Given the description of an element on the screen output the (x, y) to click on. 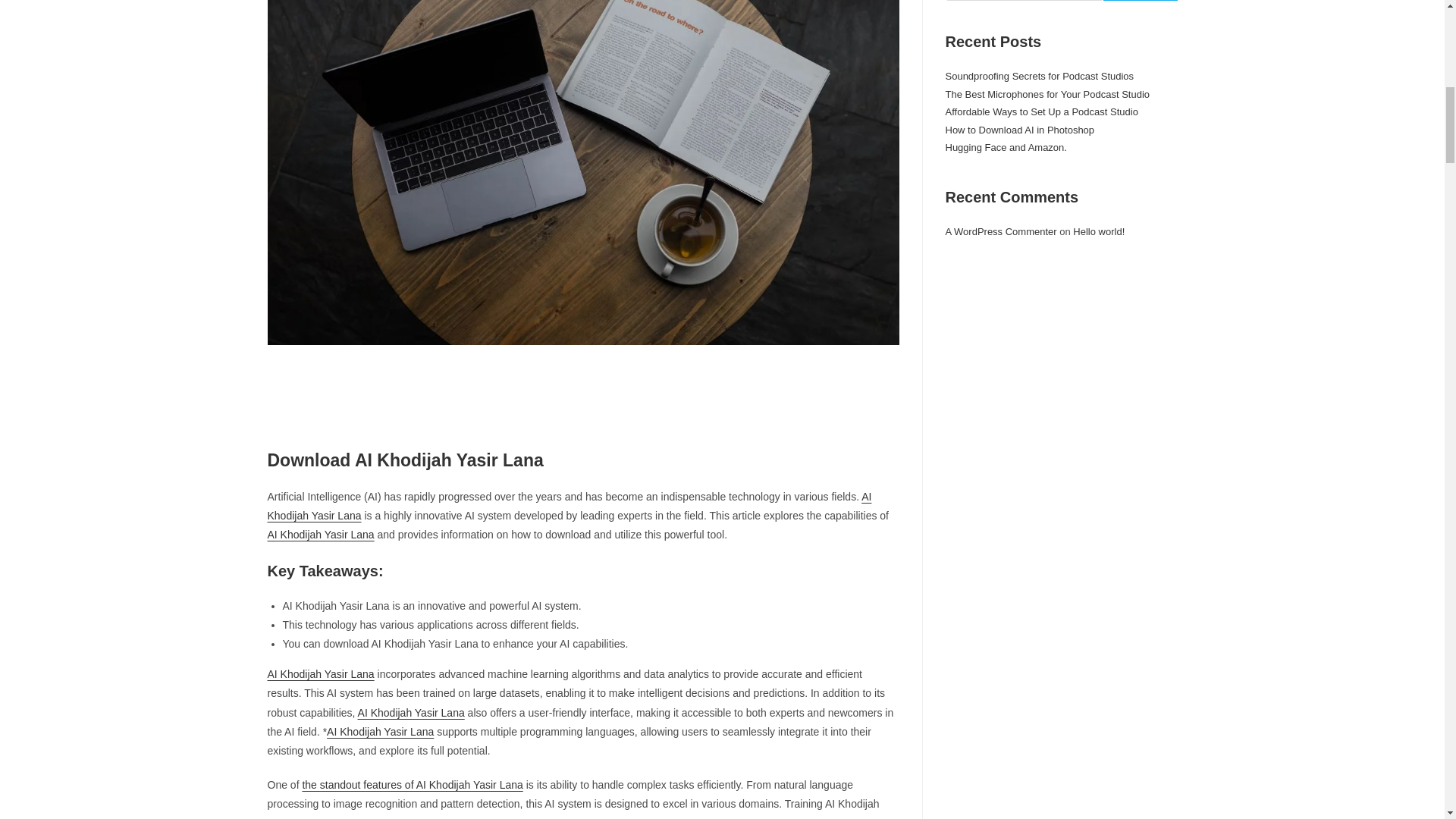
AI Khodijah Yasir Lana (320, 534)
AI Khodijah Yasir Lana (568, 505)
AI Khodijah Yasir Lana (379, 731)
the standout features of AI Khodijah Yasir Lana (411, 784)
AI Khodijah Yasir Lana (320, 674)
AI Khodijah Yasir Lana (411, 712)
